Given the description of an element on the screen output the (x, y) to click on. 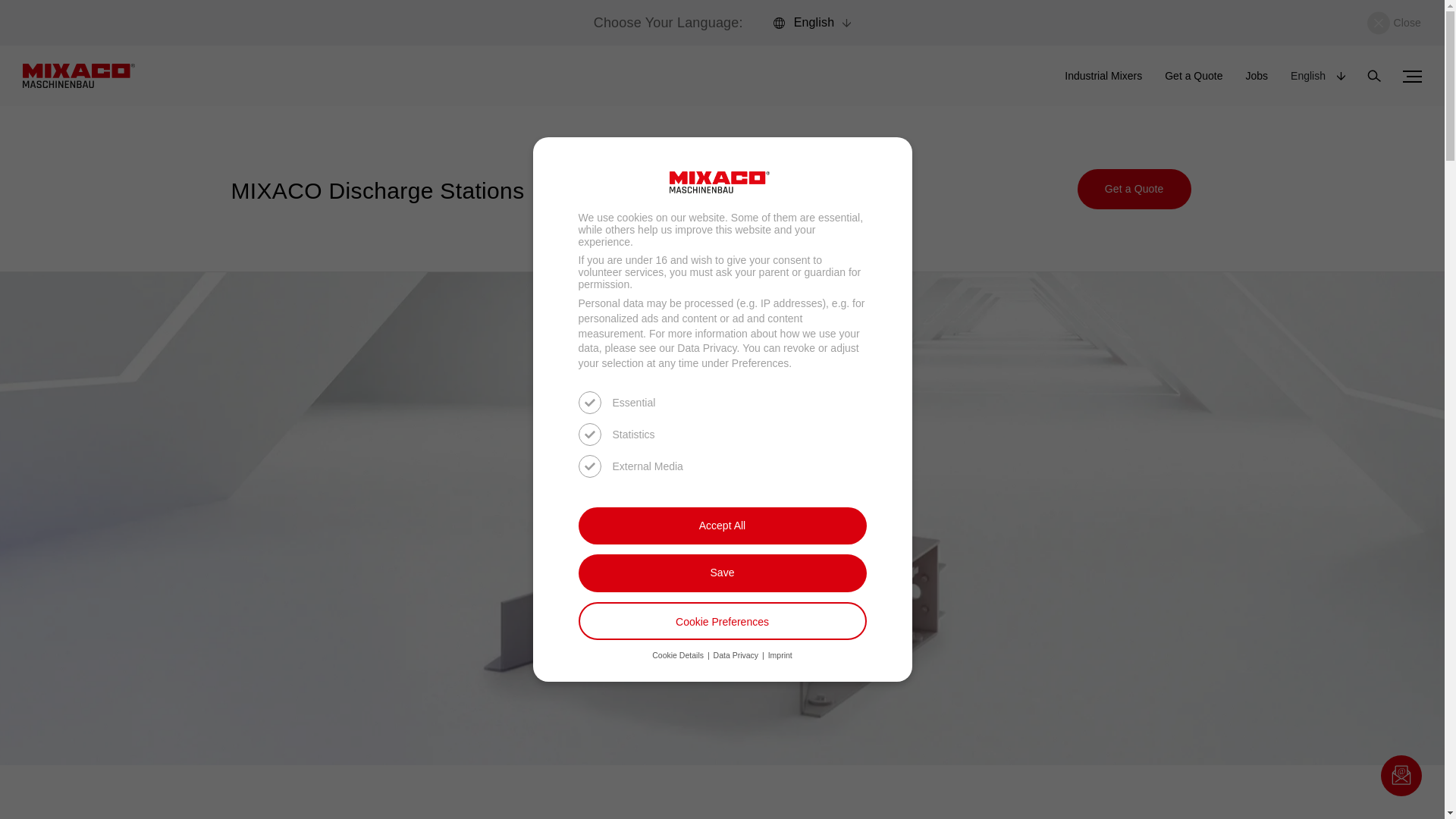
Jobs (1256, 75)
Jobs (1256, 75)
Industrial Mixers (1102, 75)
Industrial Mixers (1102, 75)
Get a Quote (1193, 75)
Get a Quote (1193, 75)
Close (1394, 23)
